Given the description of an element on the screen output the (x, y) to click on. 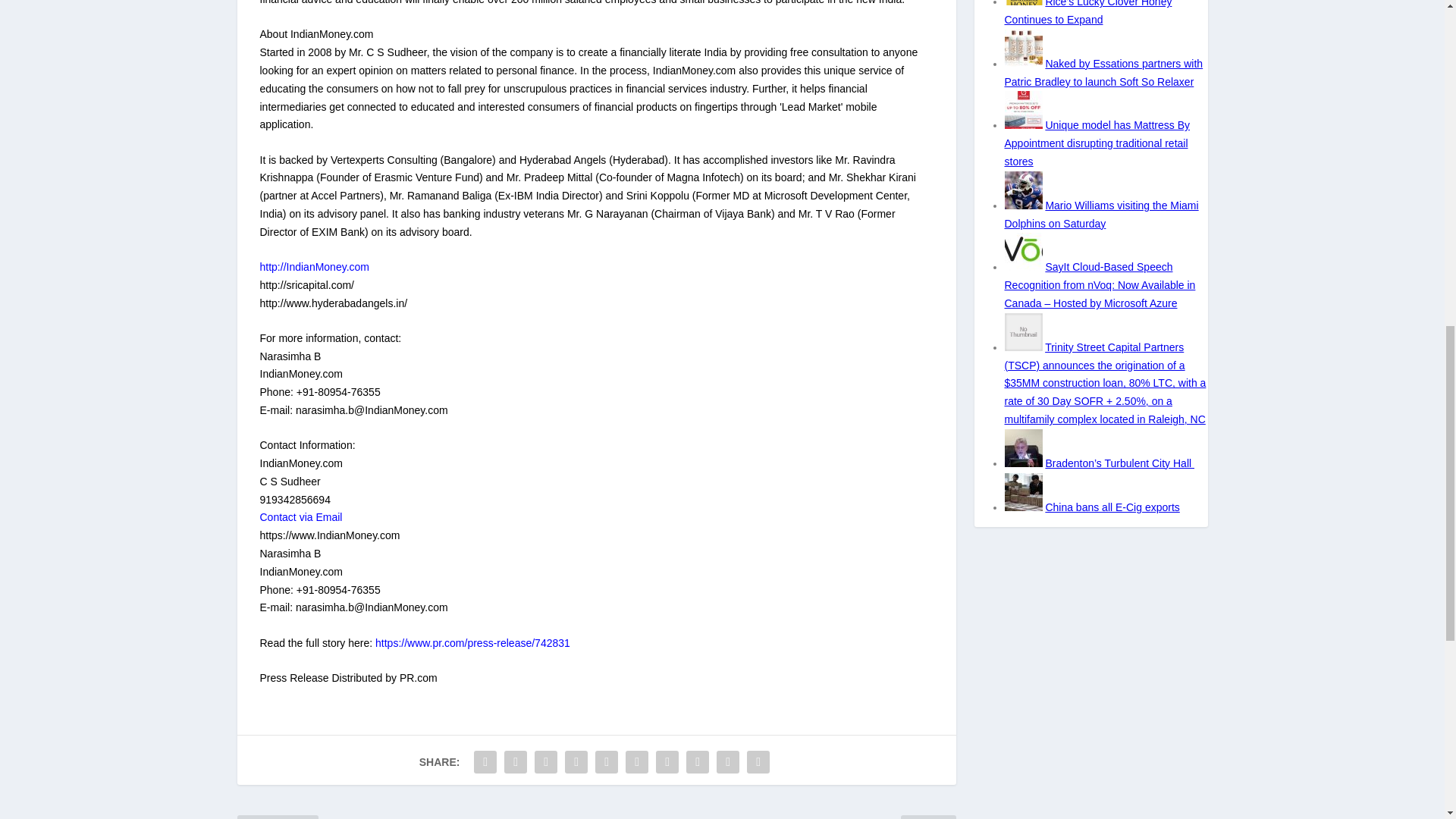
Contact via Email (300, 517)
